Given the description of an element on the screen output the (x, y) to click on. 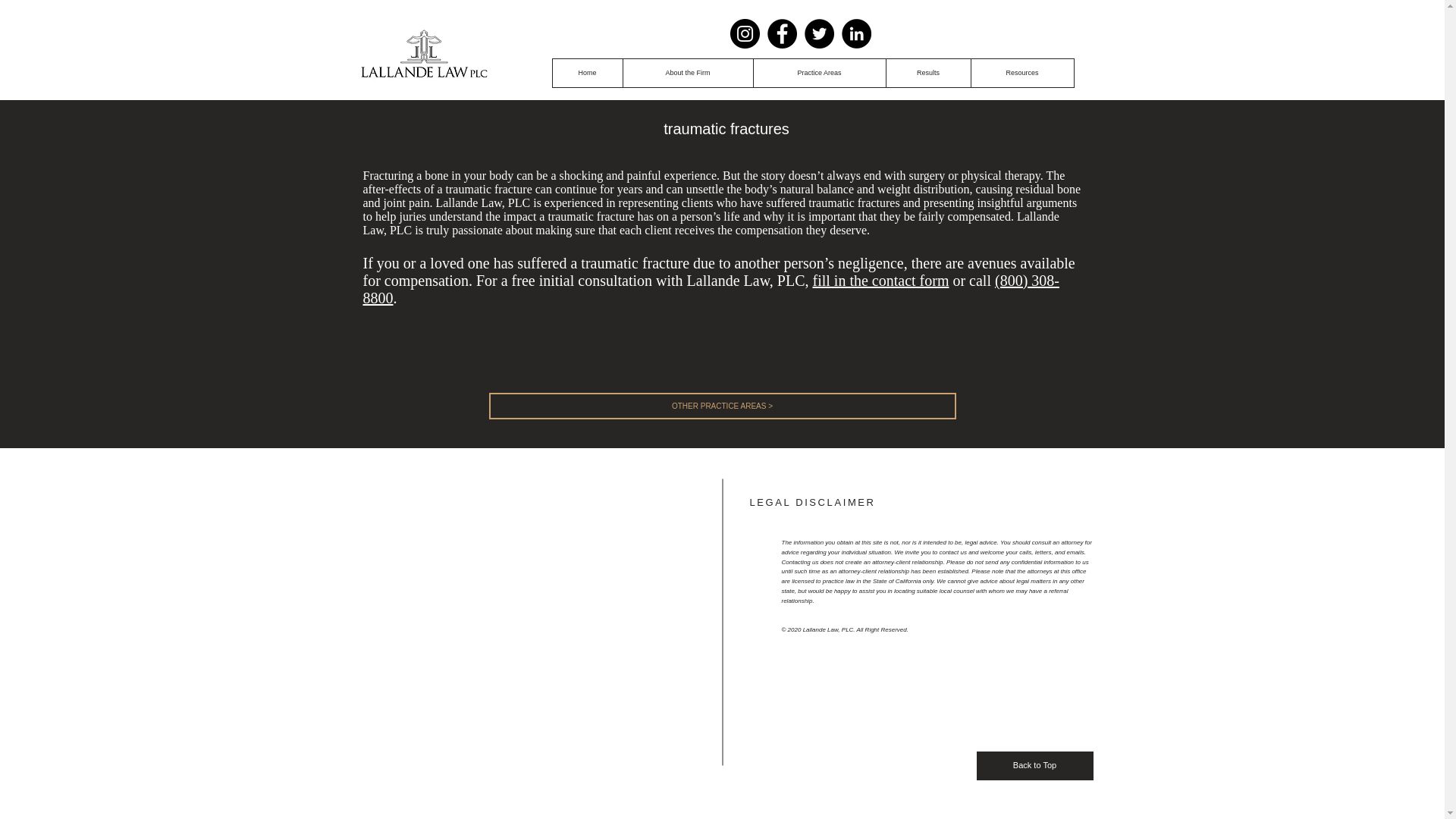
Results (928, 72)
fill in the contact form (880, 280)
Practice Areas (818, 72)
Back to Top (1034, 766)
Home (586, 72)
Resources (1022, 72)
About the Firm (686, 72)
